Given the description of an element on the screen output the (x, y) to click on. 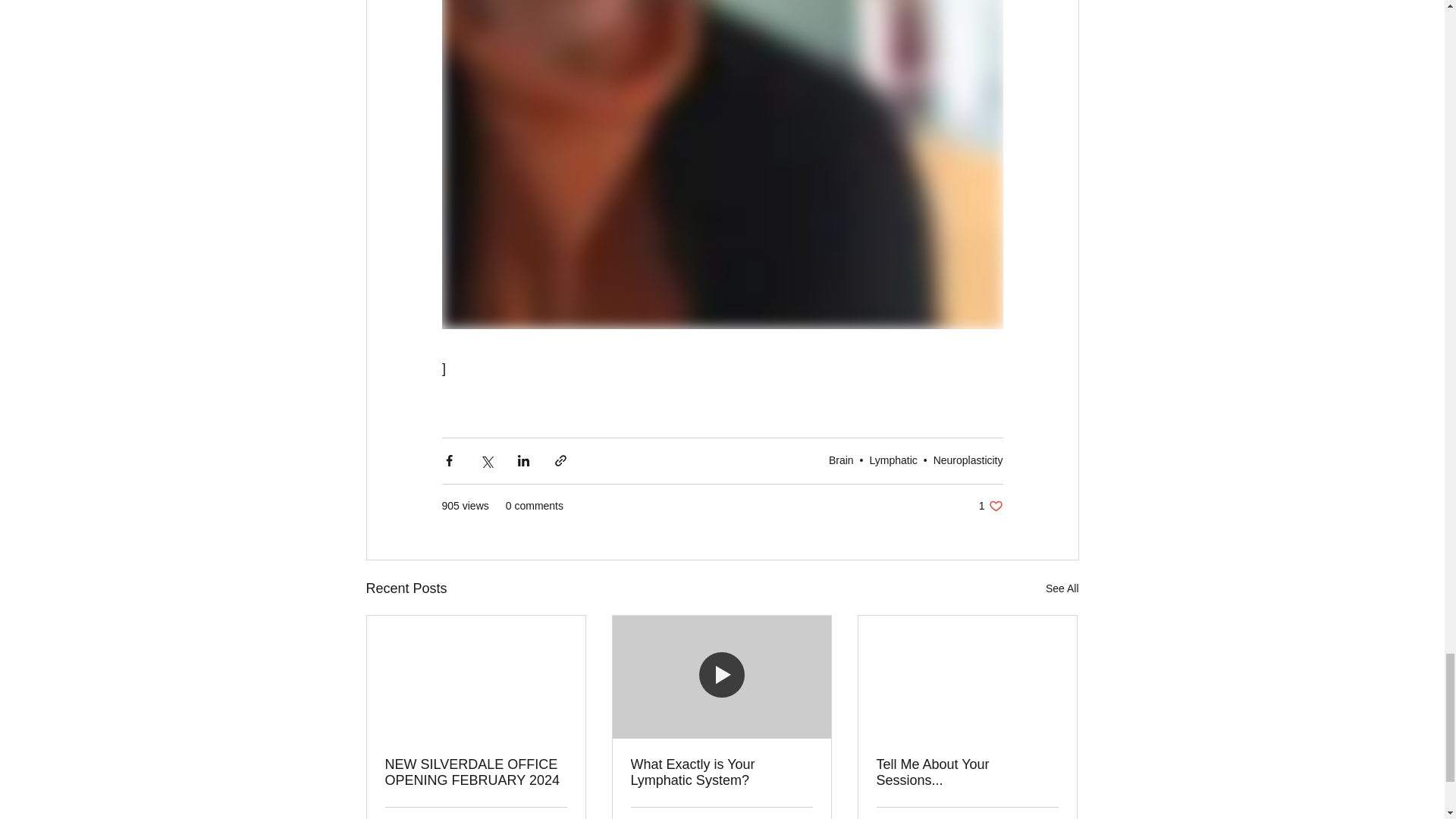
Lymphatic (893, 460)
Neuroplasticity (968, 460)
NEW SILVERDALE OFFICE OPENING FEBRUARY 2024 (476, 772)
Brain (721, 772)
